Given the description of an element on the screen output the (x, y) to click on. 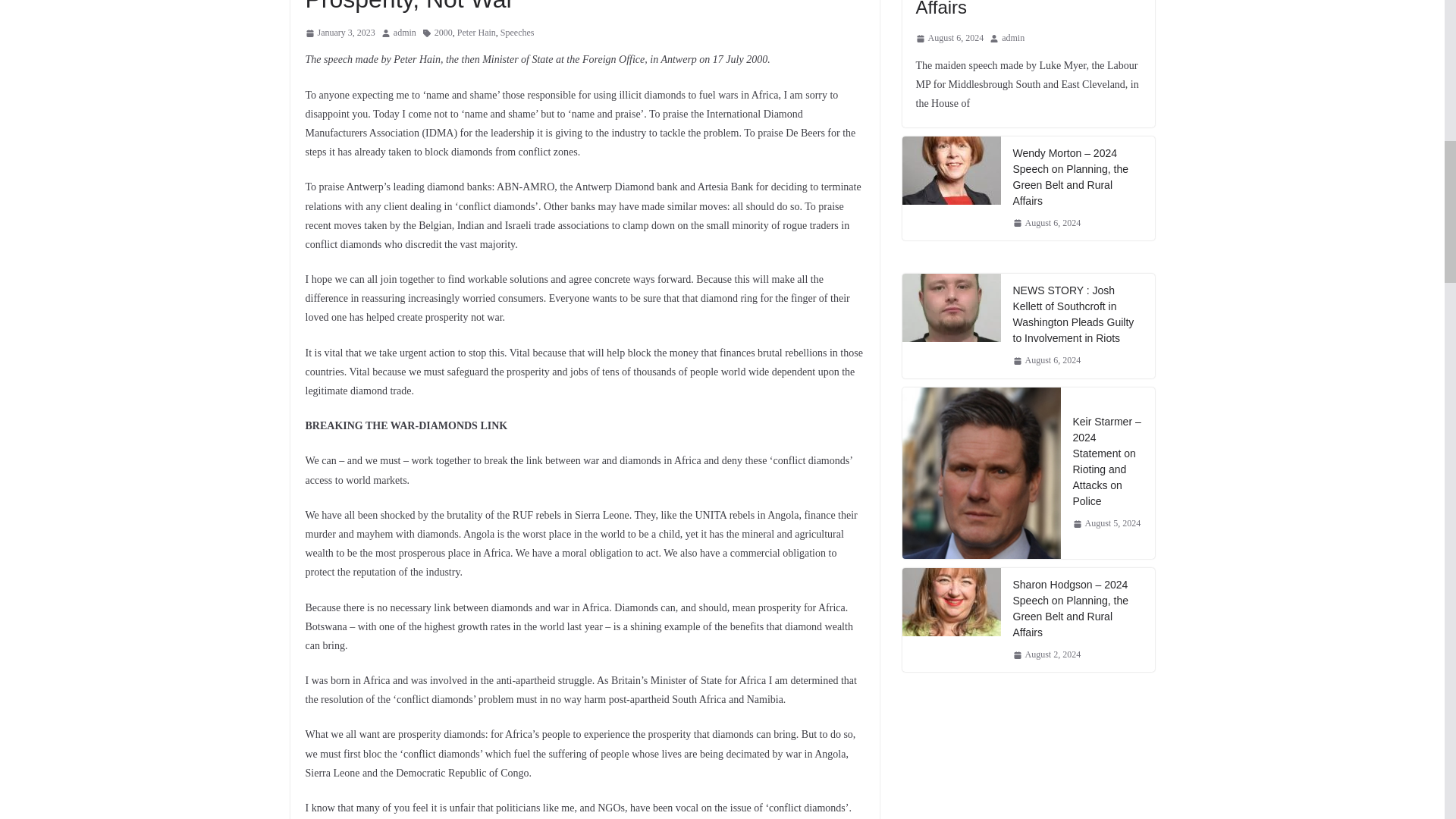
admin (404, 33)
Peter Hain (476, 33)
January 3, 2023 (339, 33)
8:11 am (339, 33)
2000 (442, 33)
admin (404, 33)
Speeches (517, 33)
